Given the description of an element on the screen output the (x, y) to click on. 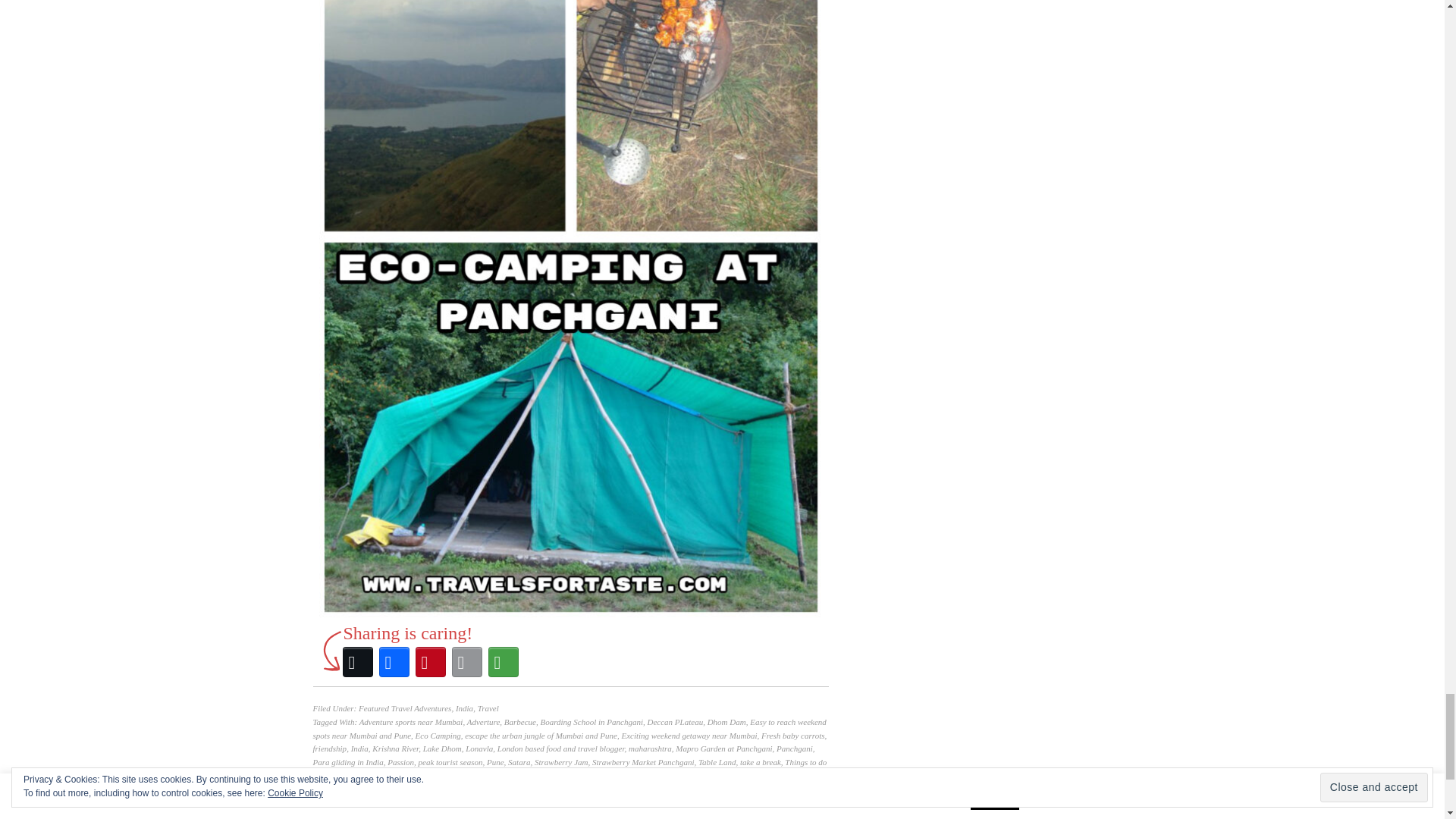
Pinterest (430, 661)
Email This (466, 661)
More Options (502, 661)
Facebook (393, 661)
